Given the description of an element on the screen output the (x, y) to click on. 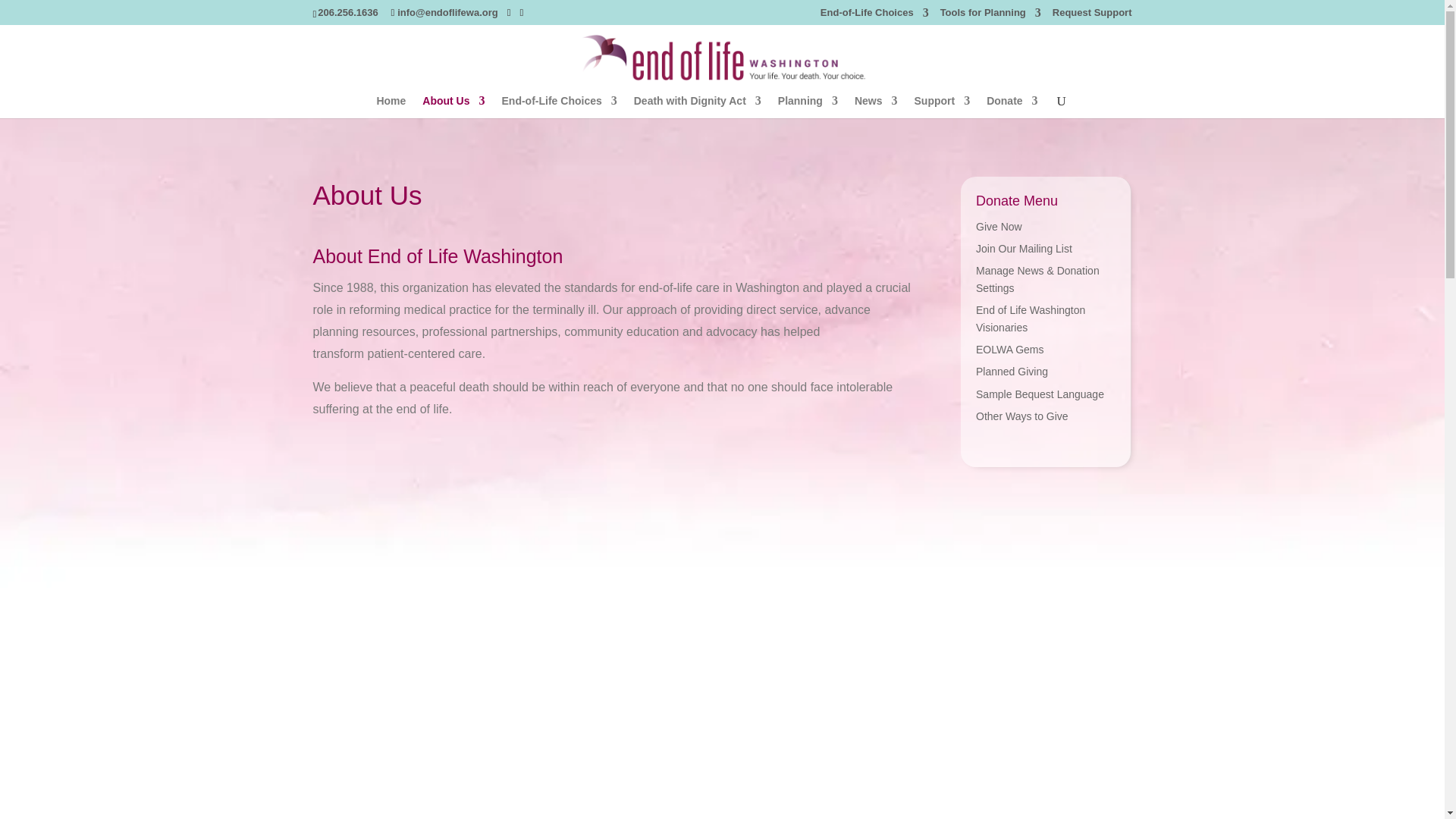
Tools for Planning (990, 16)
End-of-Life Choices (874, 16)
About Us (453, 106)
Request Support (1092, 16)
Home (390, 106)
End-of-Life Choices (559, 106)
